Given the description of an element on the screen output the (x, y) to click on. 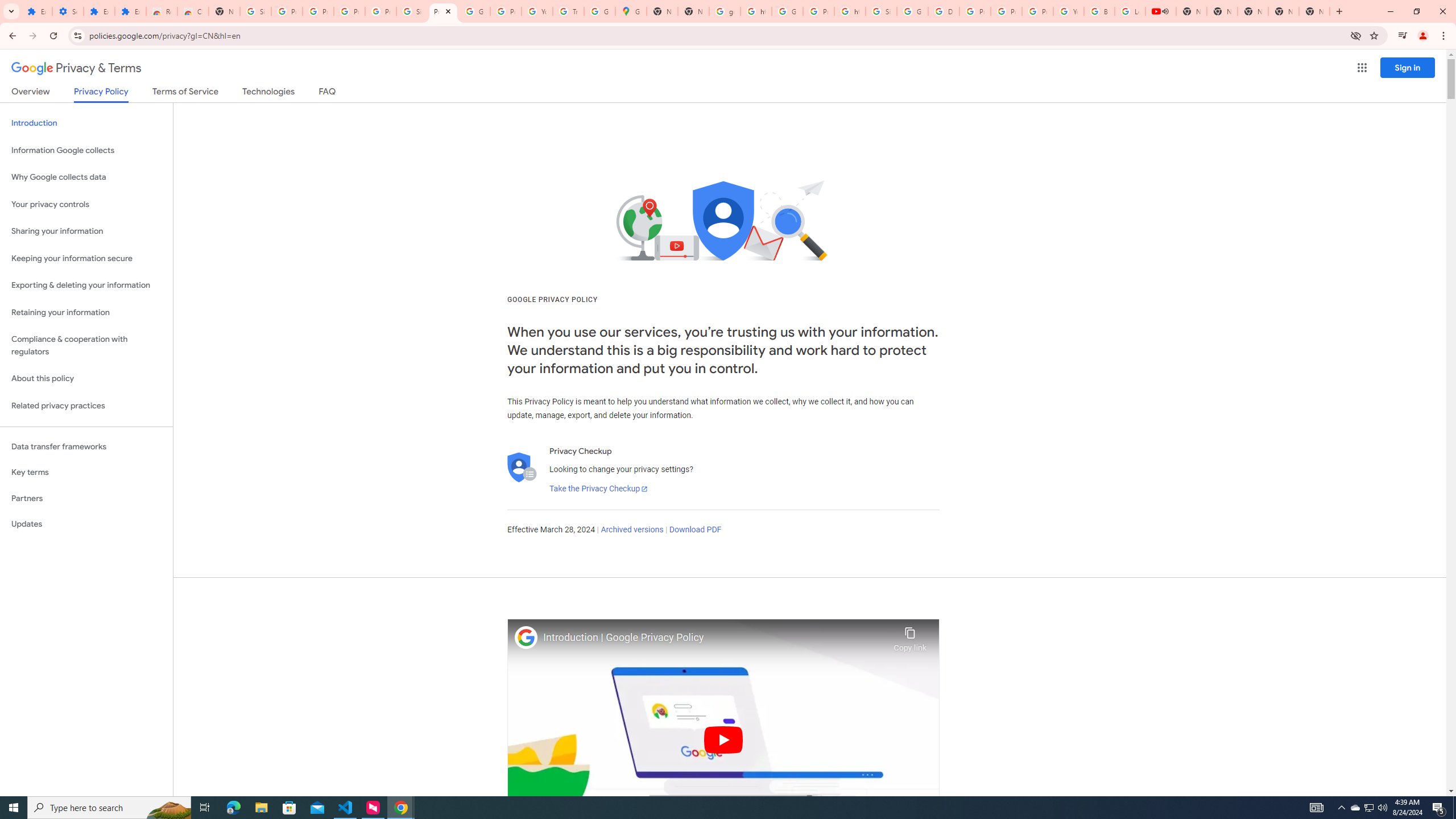
Photo image of Google (526, 636)
About this policy (86, 379)
https://scholar.google.com/ (756, 11)
Mute tab (1165, 10)
Extensions (130, 11)
Download PDF (695, 529)
